Given the description of an element on the screen output the (x, y) to click on. 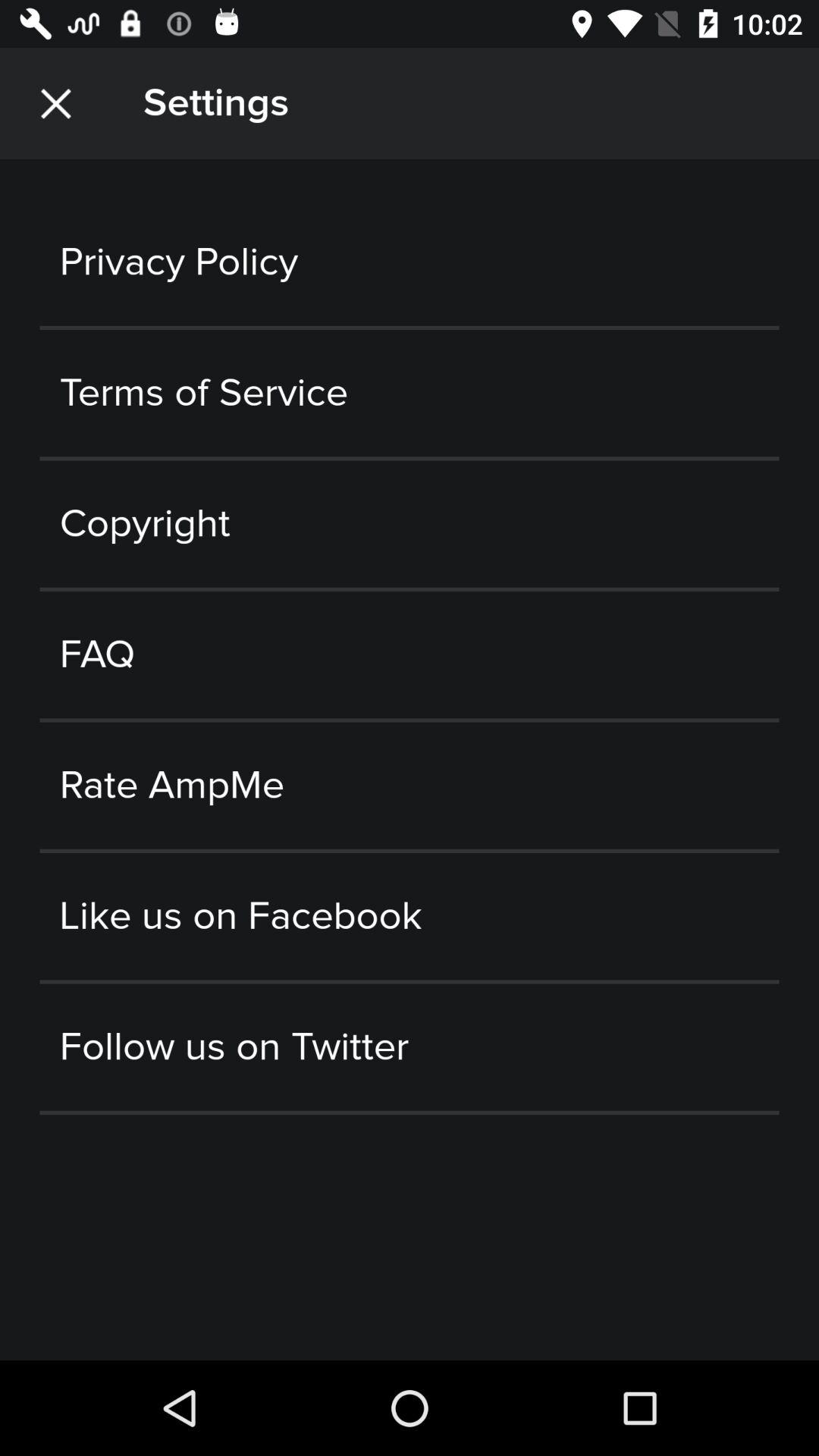
select the terms of service item (409, 392)
